Given the description of an element on the screen output the (x, y) to click on. 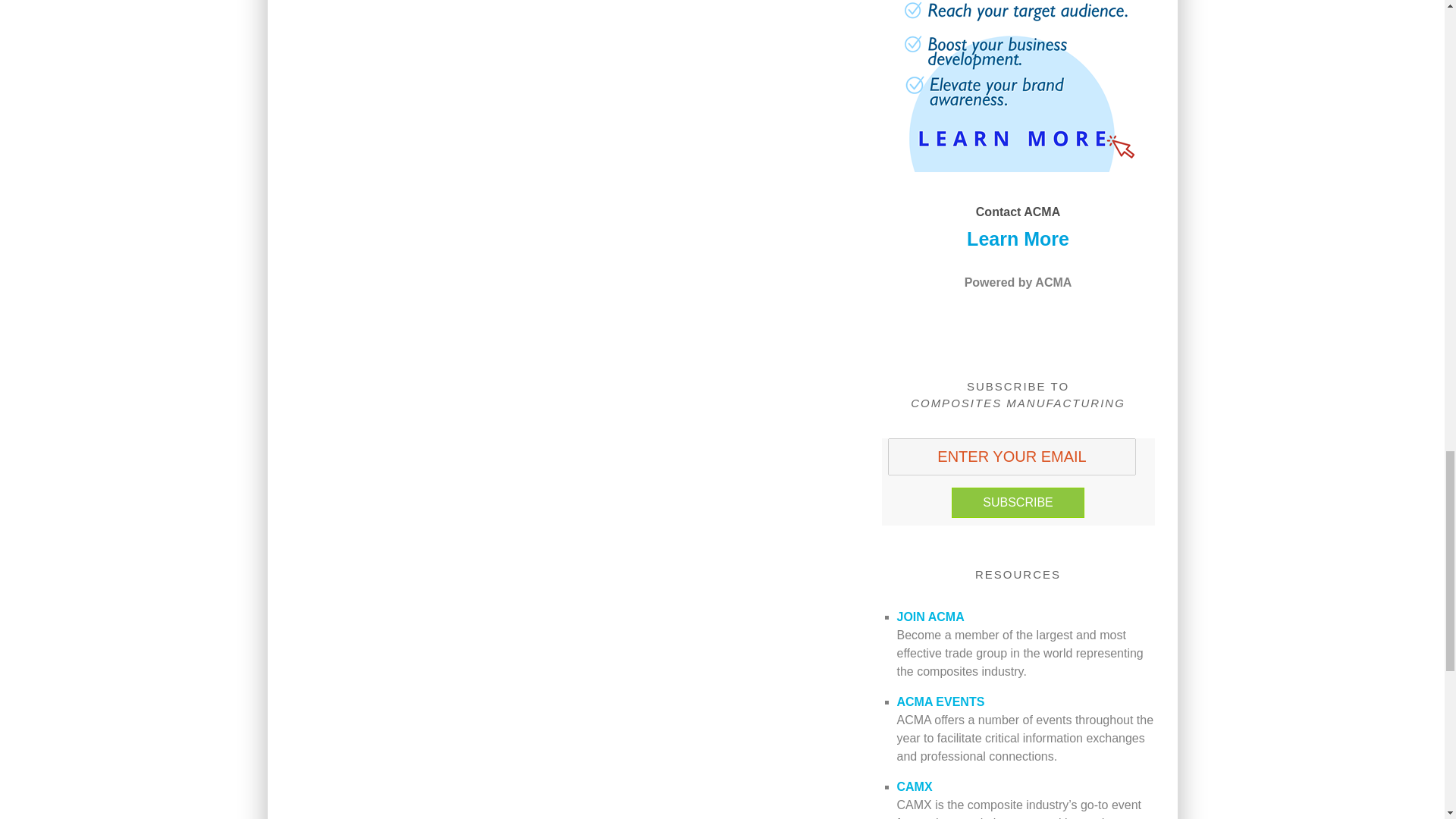
Enter Your Email (1011, 456)
Subscribe (1017, 502)
